Given the description of an element on the screen output the (x, y) to click on. 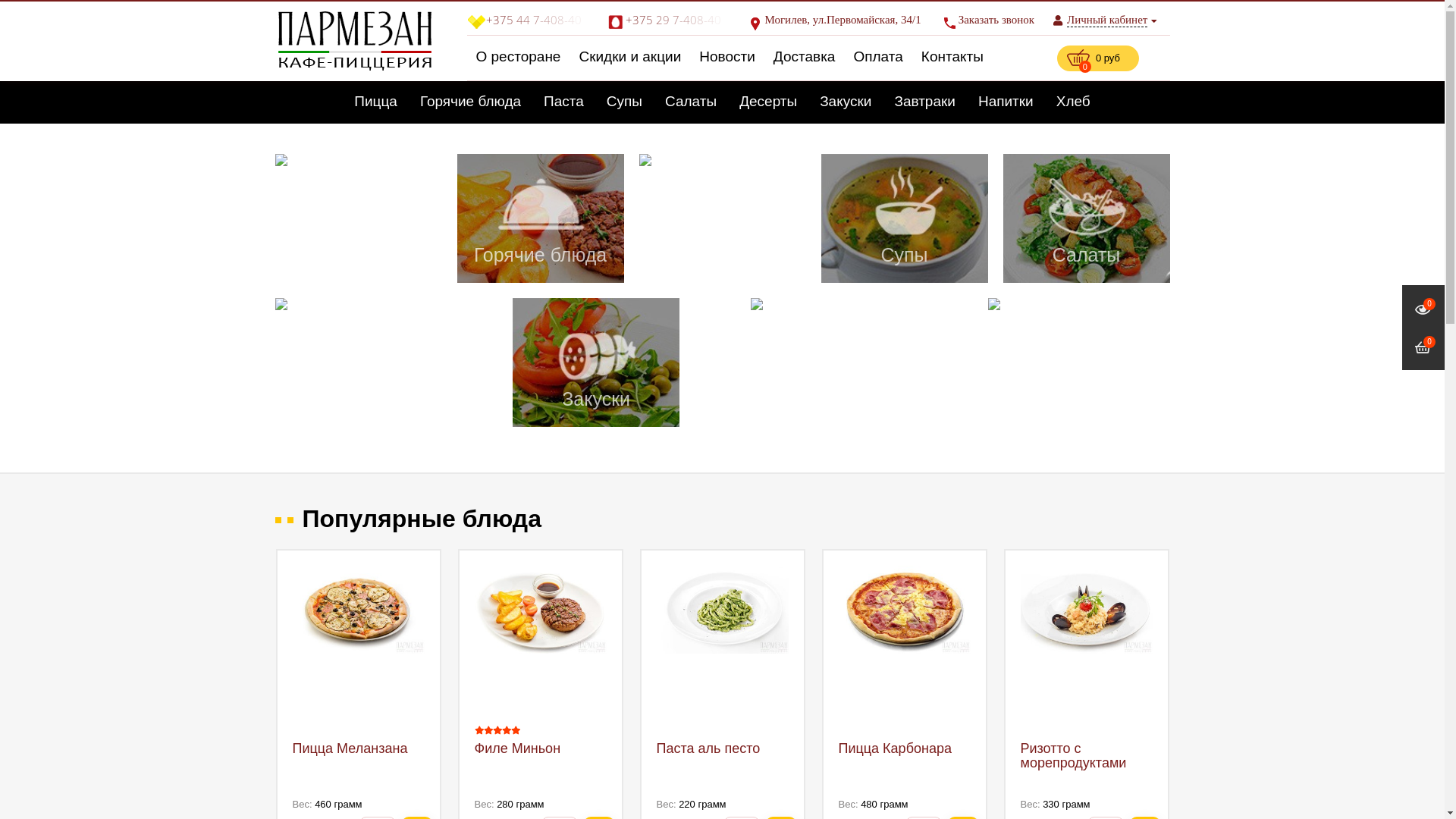
0 Element type: text (1423, 348)
+375 29 7-408-40 Element type: text (667, 19)
+375 44 7-408-40 Element type: text (527, 19)
0 Element type: text (1423, 310)
